Given the description of an element on the screen output the (x, y) to click on. 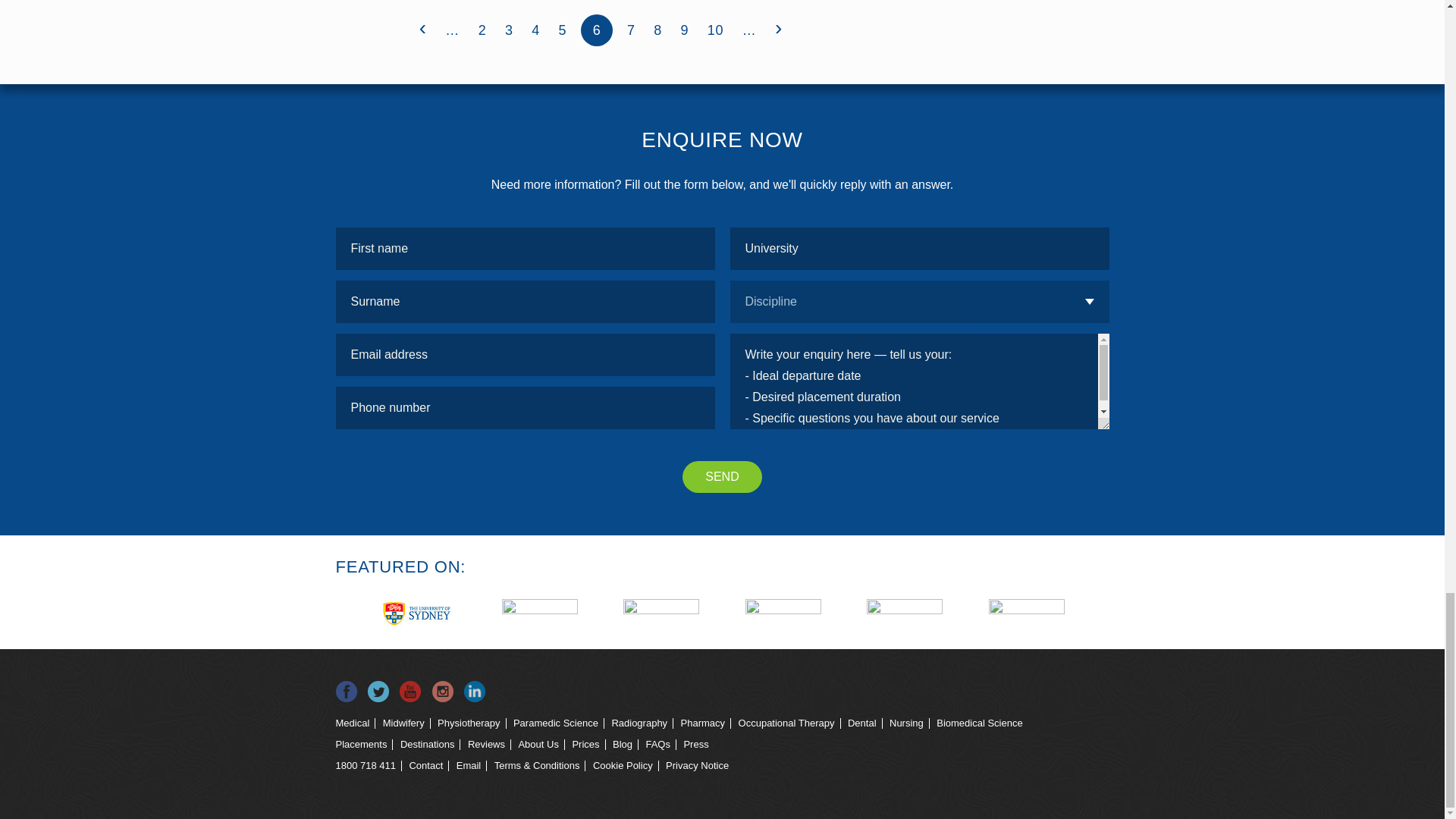
Send (721, 477)
